Given the description of an element on the screen output the (x, y) to click on. 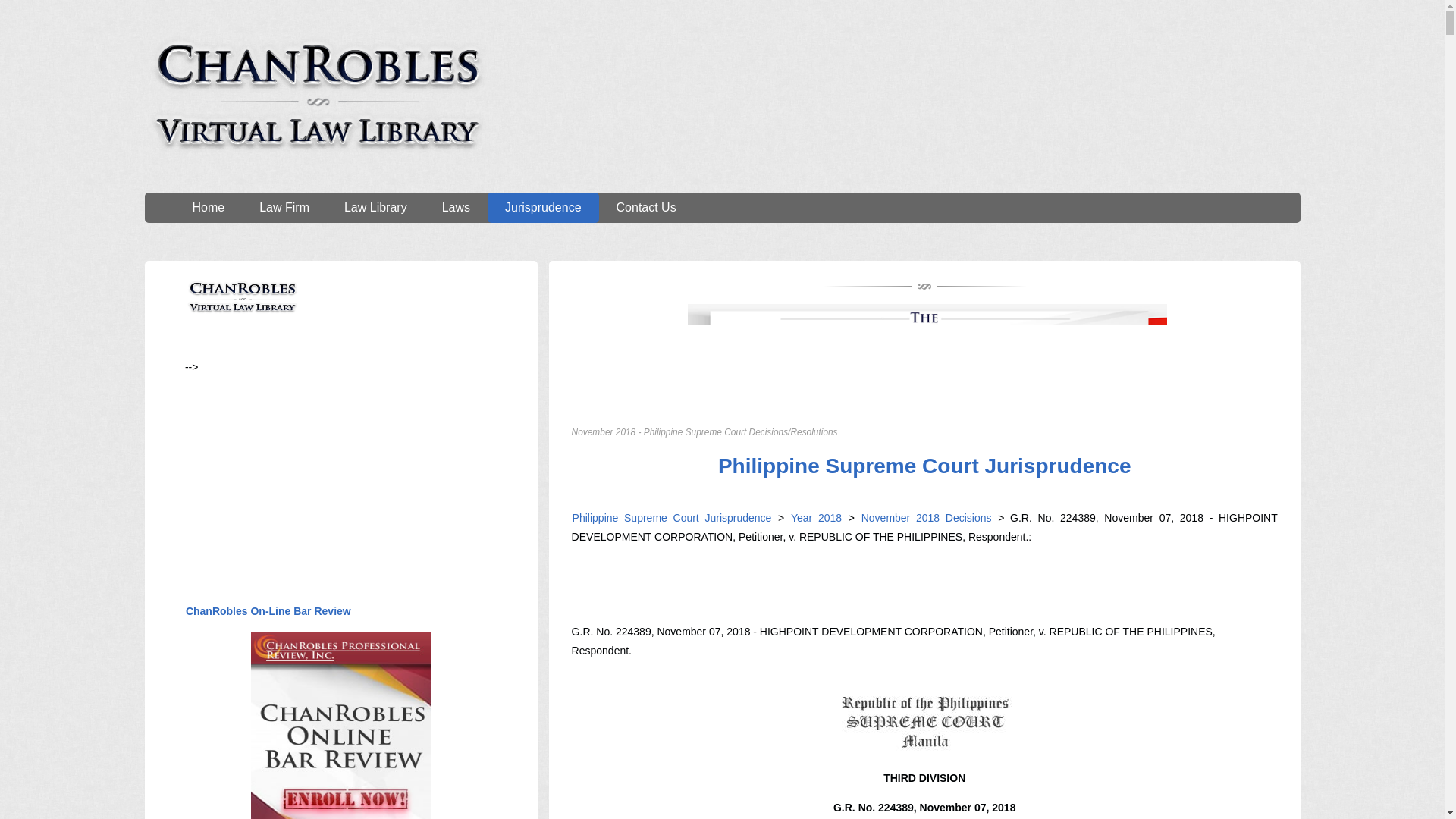
Home (207, 207)
Law Firm (283, 207)
Law Library (375, 207)
Philippine Supreme Court Jurisprudence (924, 465)
Contact Us (646, 207)
Laws (456, 207)
Jurisprudence (542, 207)
November 2018 Decisions (923, 517)
ChanRobles On-Line Bar Review (268, 611)
Year 2018 (816, 517)
